Given the description of an element on the screen output the (x, y) to click on. 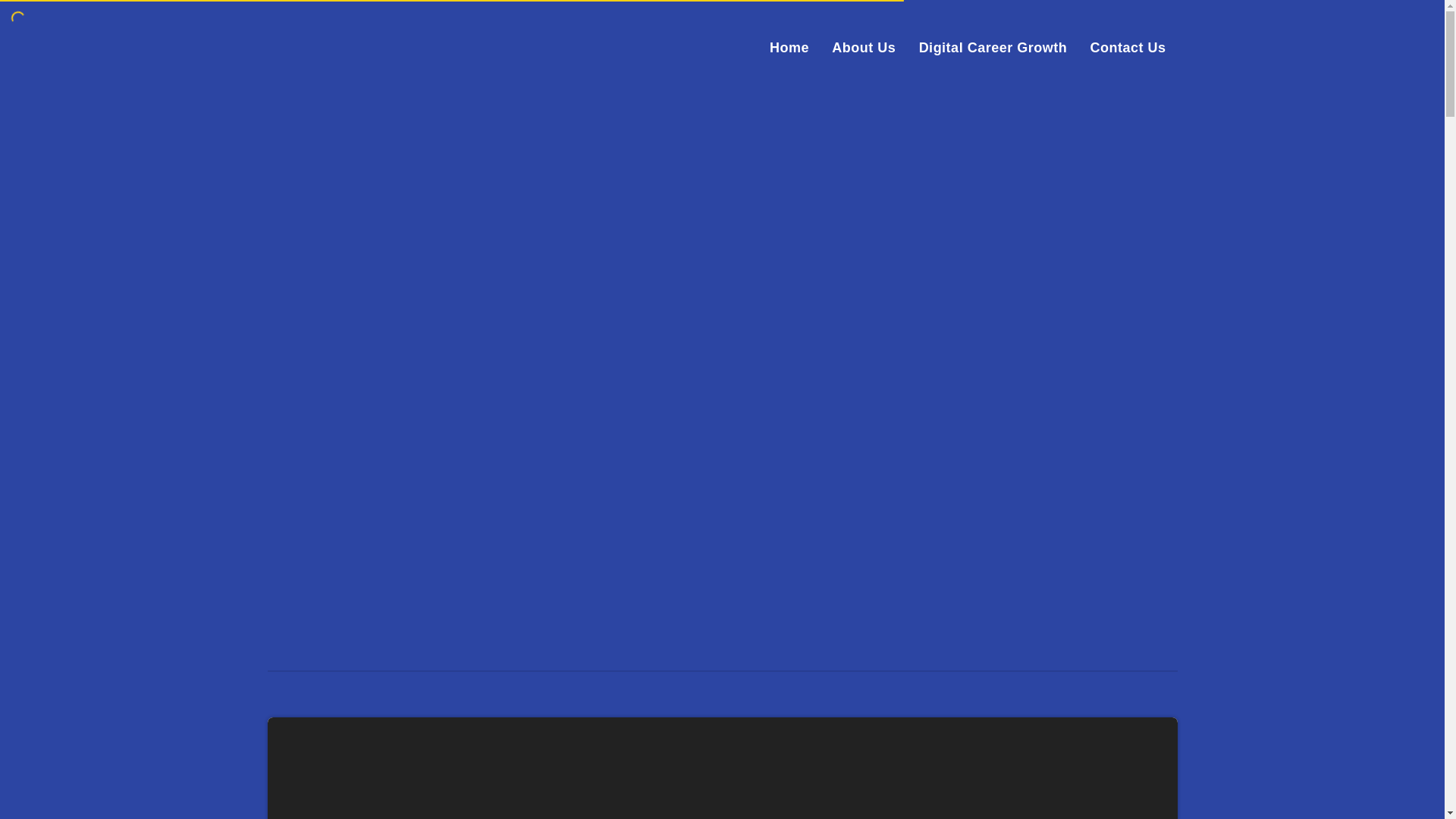
Home (789, 47)
Digital Career Growth (992, 47)
About Us (863, 47)
Contact Us (1127, 47)
